Given the description of an element on the screen output the (x, y) to click on. 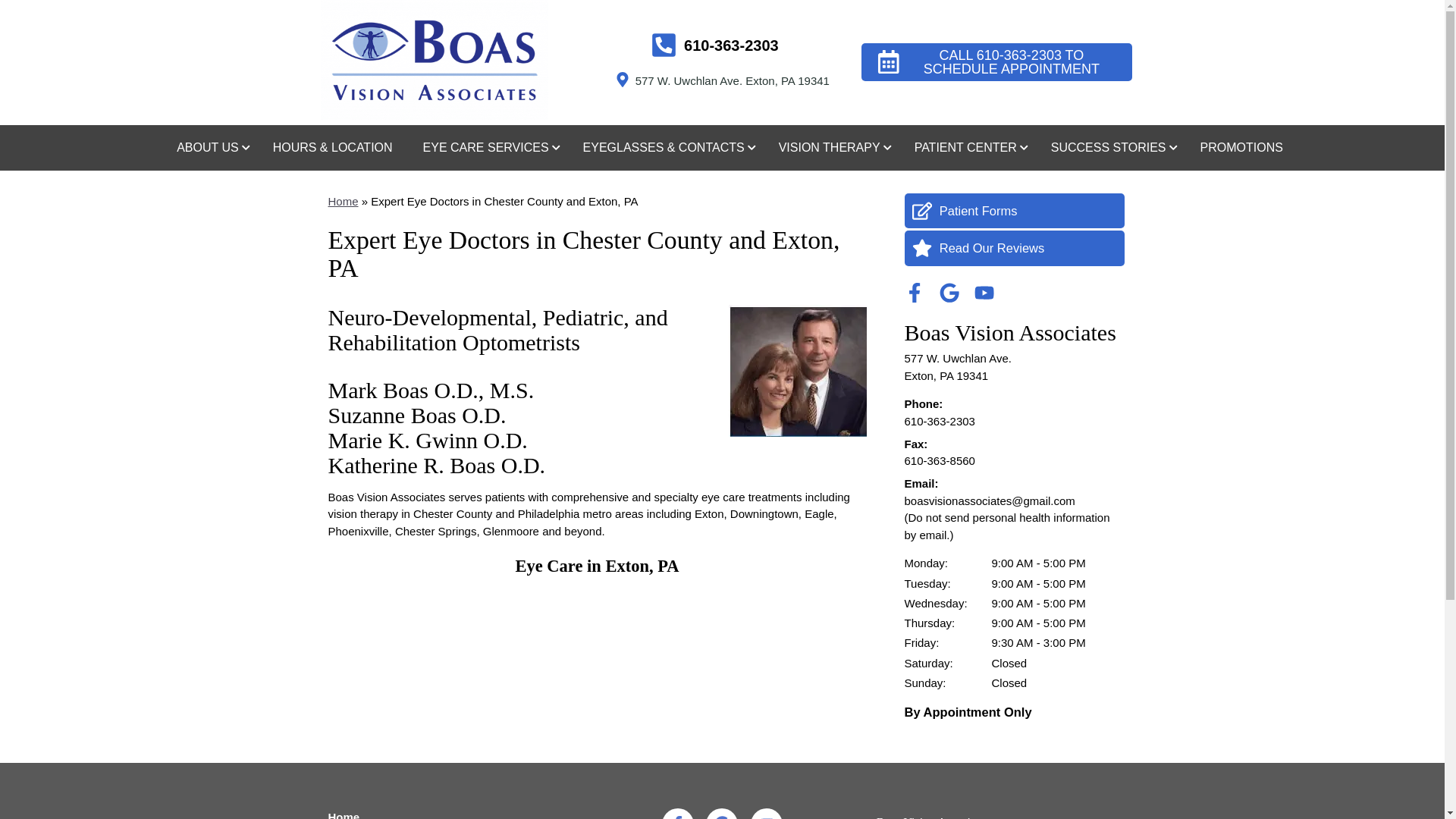
EYE CARE SERVICES (487, 146)
CALL 610-363-2303 TO SCHEDULE APPOINTMENT (996, 62)
610-363-2303 (713, 45)
ABOUT US (209, 146)
577 W. Uwchlan Ave. Exton, PA 19341 (722, 80)
VISION THERAPY (830, 146)
